Given the description of an element on the screen output the (x, y) to click on. 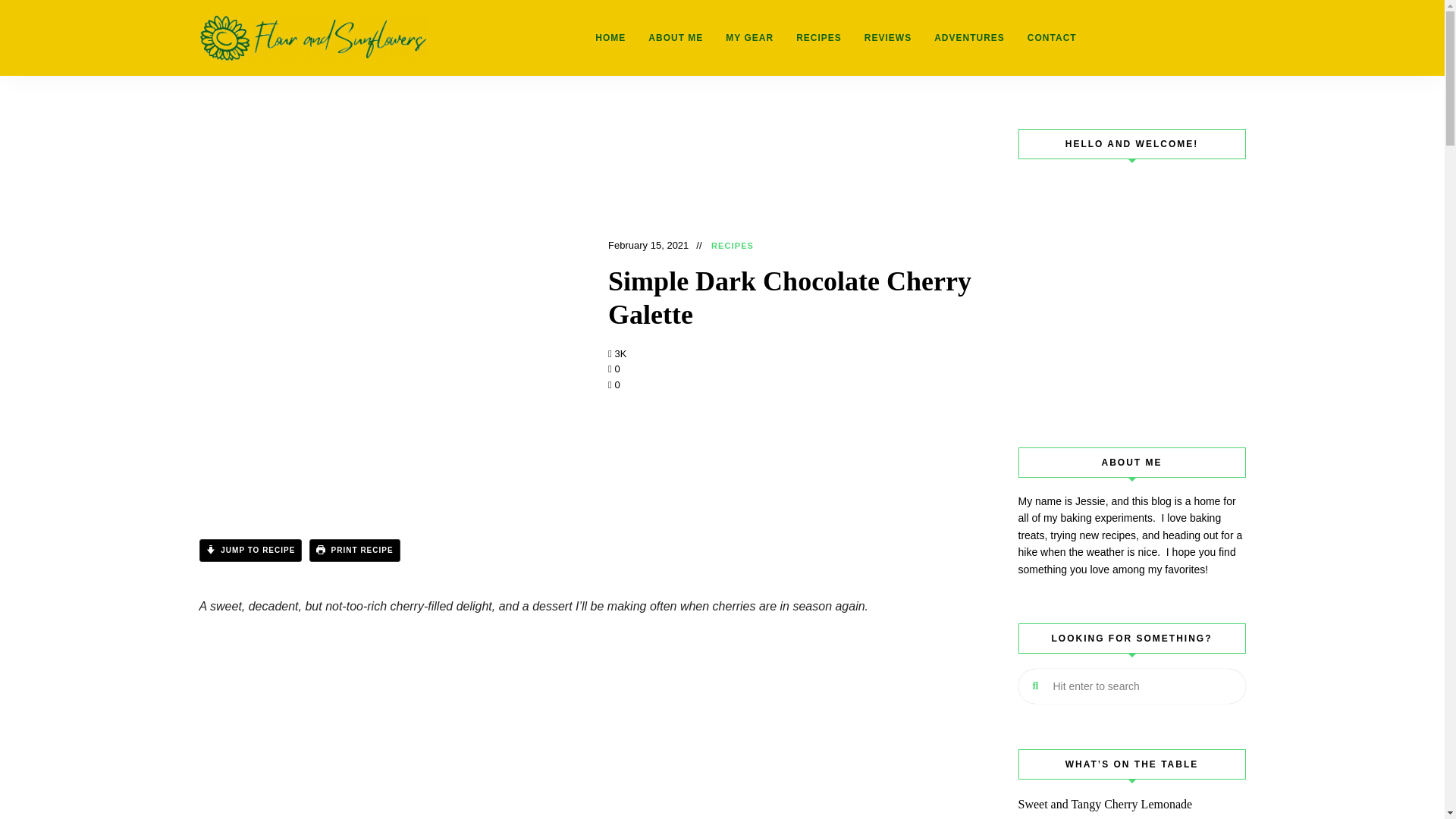
RECIPES (818, 38)
PRINT RECIPE (354, 549)
ABOUT ME (675, 38)
Hello and Welcome! (1130, 288)
Sweet and Tangy Cherry Lemonade (1130, 804)
CONTACT (1051, 38)
JUMP TO RECIPE (249, 549)
REVIEWS (888, 38)
RECIPES (732, 246)
ADVENTURES (969, 38)
0 (614, 384)
MY GEAR (749, 38)
Flour and Sunflowers (248, 96)
